Given the description of an element on the screen output the (x, y) to click on. 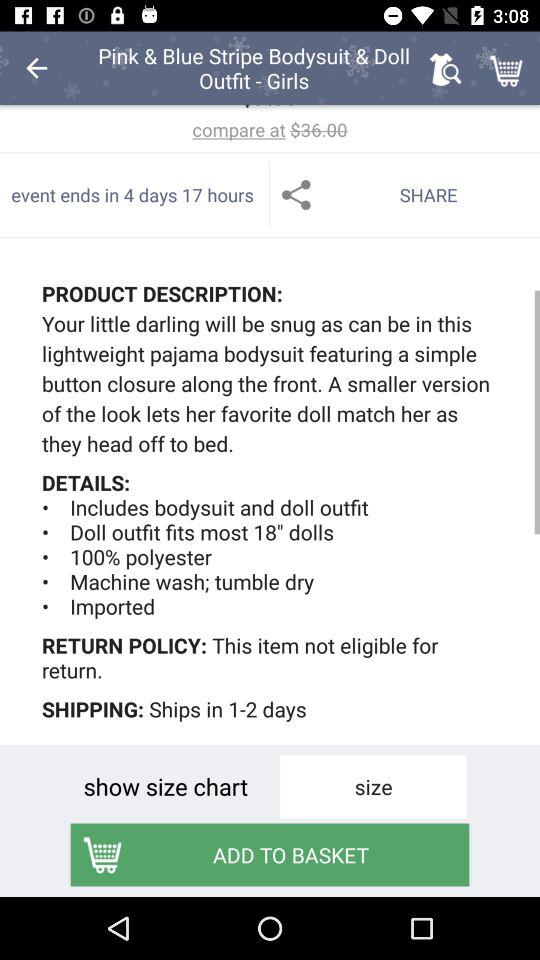
swipe to the share (405, 194)
